Given the description of an element on the screen output the (x, y) to click on. 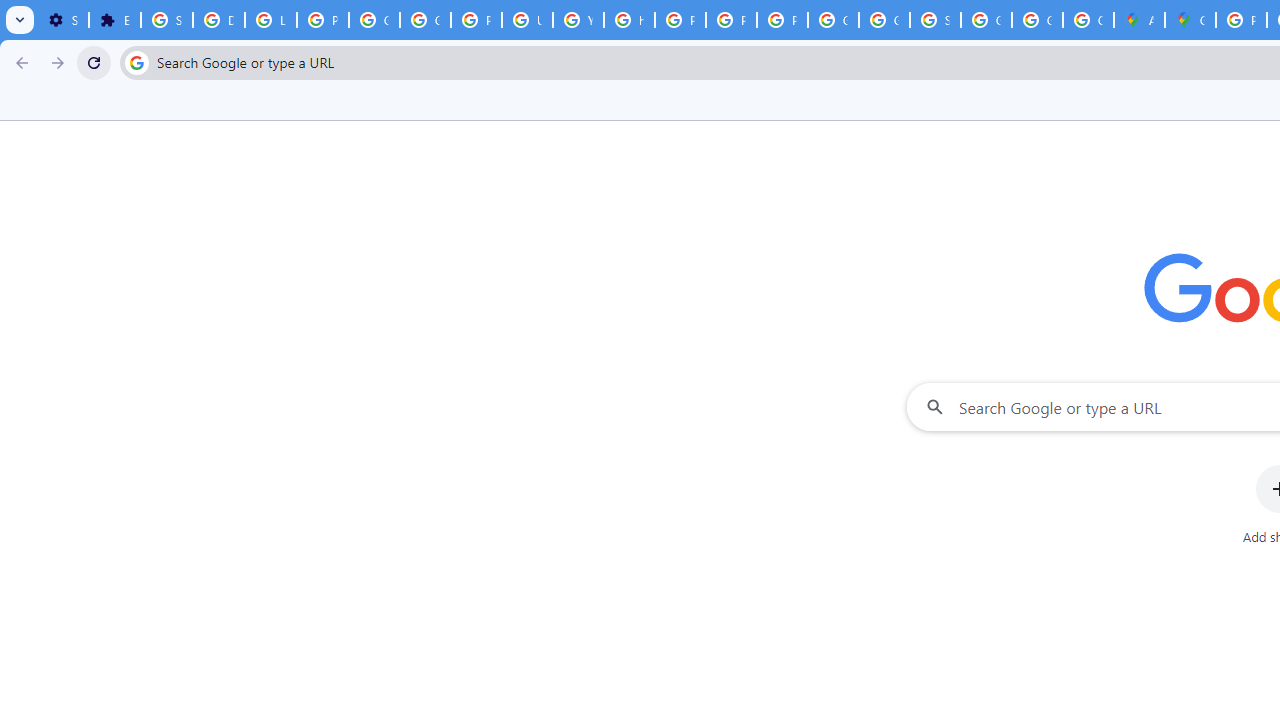
Delete photos & videos - Computer - Google Photos Help (218, 20)
Google Account Help (374, 20)
Sign in - Google Accounts (935, 20)
YouTube (578, 20)
Settings - On startup (63, 20)
